Given the description of an element on the screen output the (x, y) to click on. 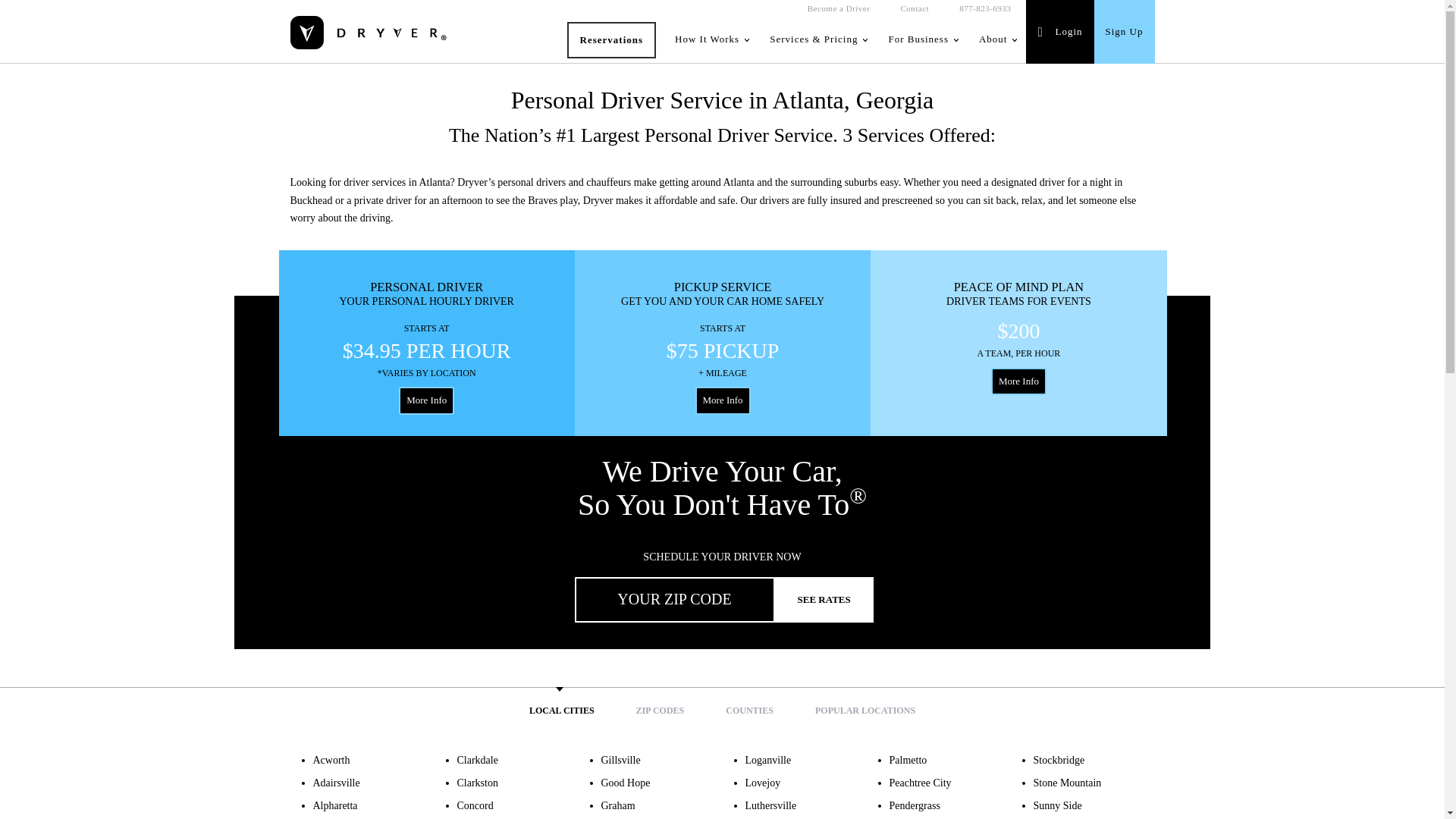
SEE RATES (823, 599)
About (997, 39)
Contact (914, 8)
COUNTIES (749, 710)
POPULAR LOCATIONS (865, 710)
LOCAL CITIES (561, 710)
For Business (922, 39)
How It Works (710, 39)
Login (1059, 31)
More Info (426, 400)
